Given the description of an element on the screen output the (x, y) to click on. 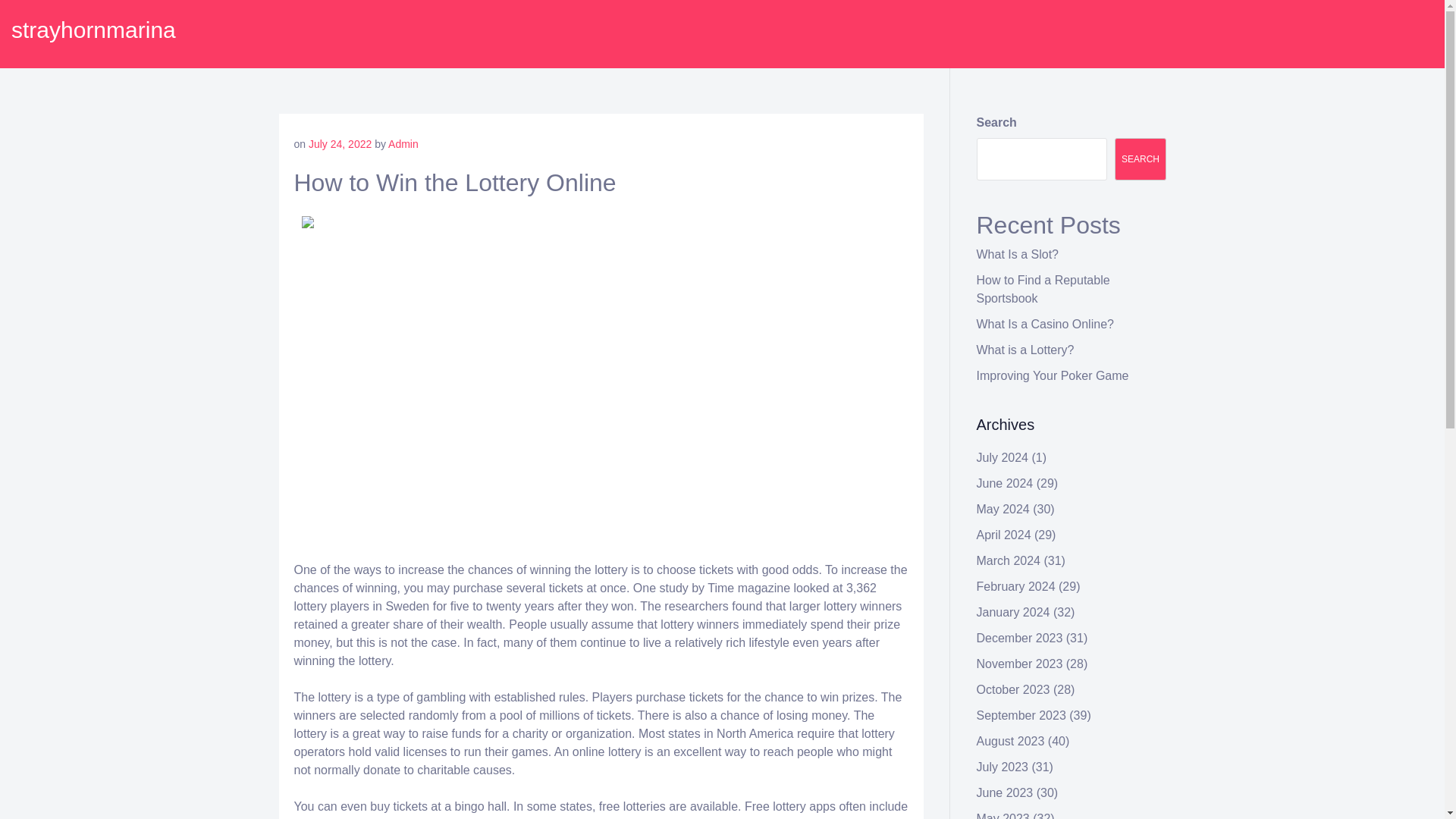
August 2023 (1010, 740)
May 2023 (1002, 815)
April 2024 (1003, 534)
November 2023 (1019, 663)
What Is a Casino Online? (1044, 323)
How to Find a Reputable Sportsbook (1042, 288)
Improving Your Poker Game (1052, 375)
July 24, 2022 (339, 143)
May 2024 (1002, 508)
What is a Lottery? (1025, 349)
